Given the description of an element on the screen output the (x, y) to click on. 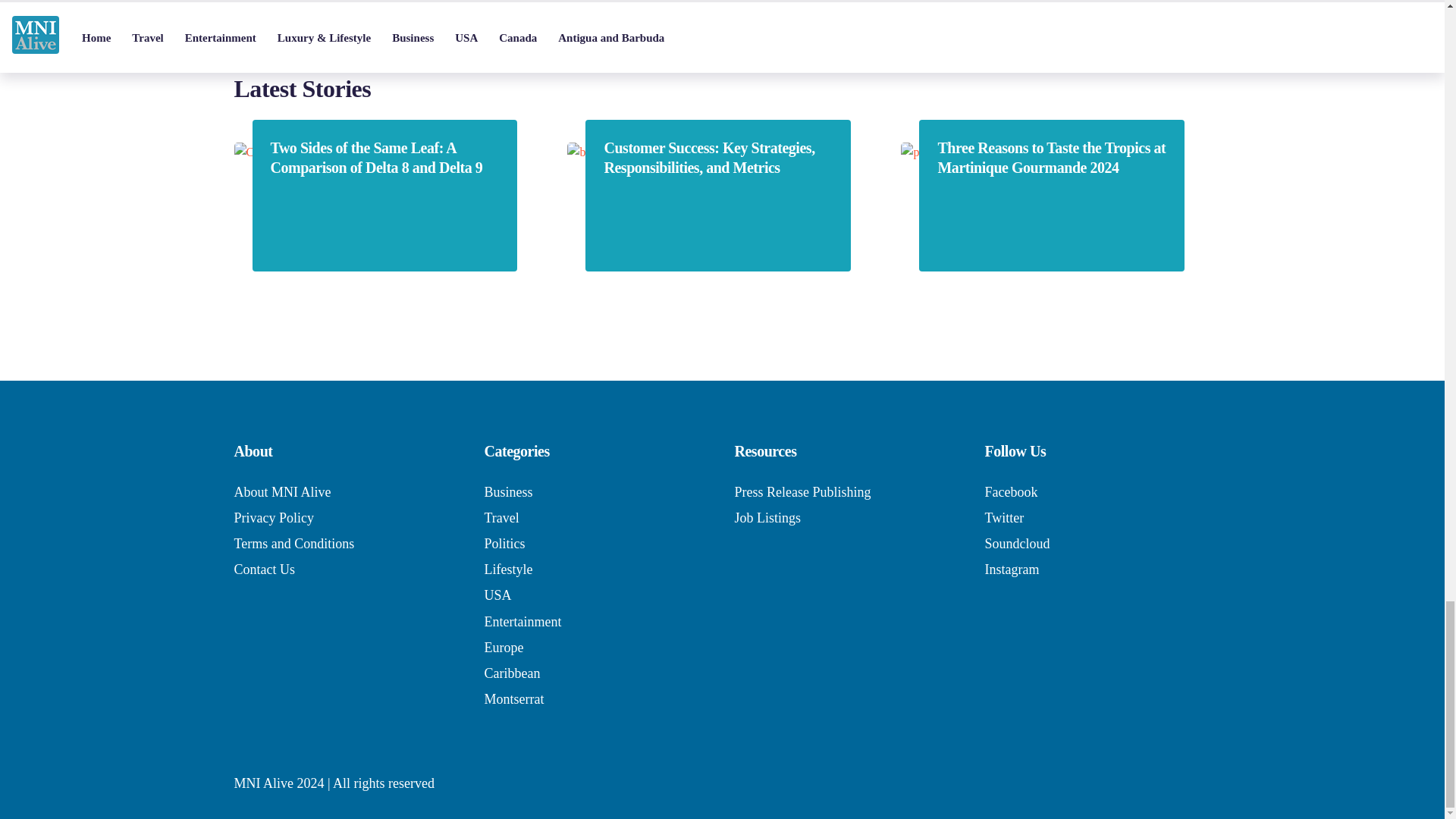
Facebook (1010, 491)
Travel (500, 517)
Instagram (1011, 569)
Press Release Publishing (801, 491)
Contact Us (263, 569)
Business (507, 491)
Terms and Conditions (292, 543)
Soundcloud (1016, 543)
Caribbean (511, 672)
